Given the description of an element on the screen output the (x, y) to click on. 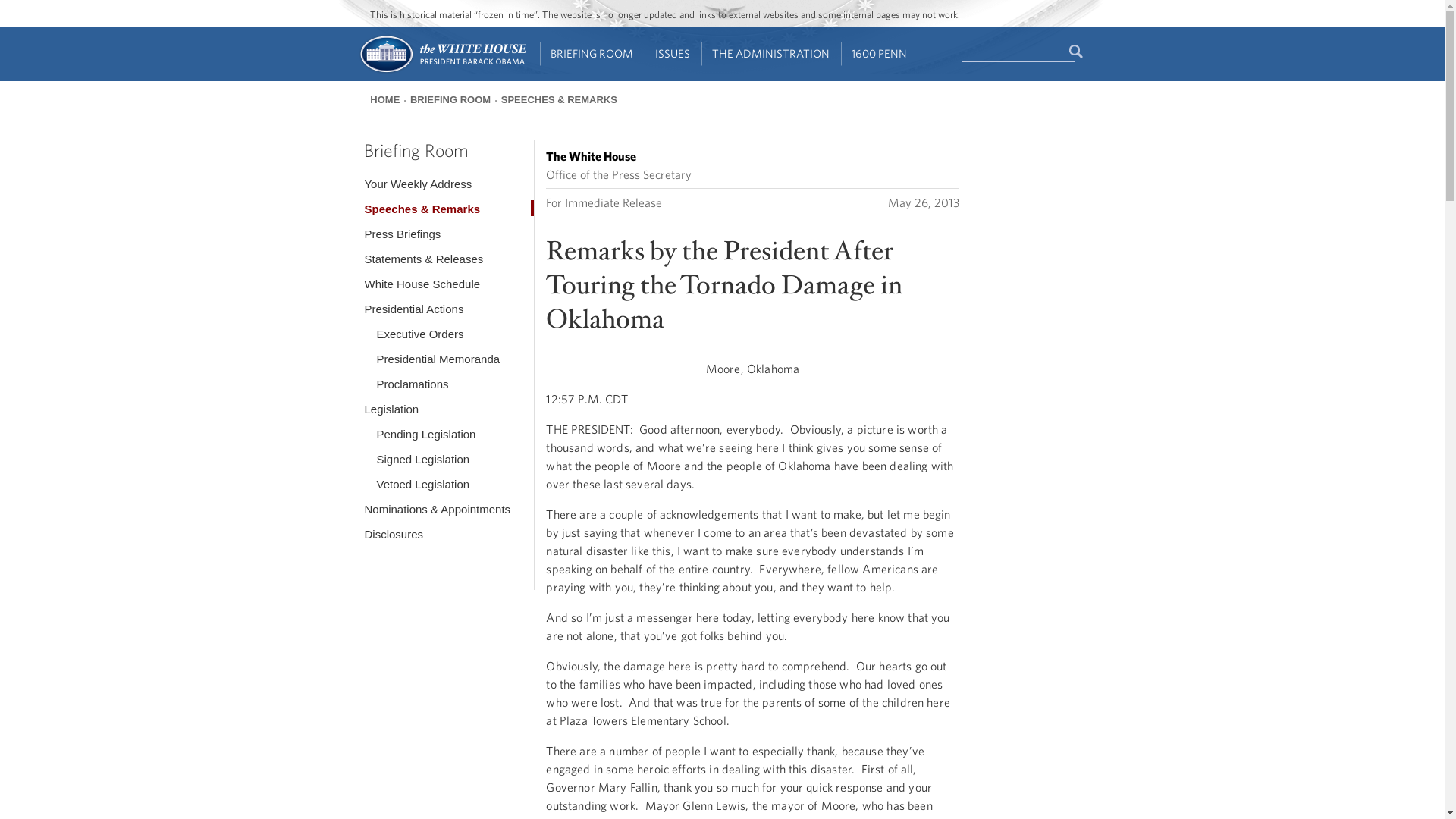
BRIEFING ROOM (592, 53)
Enter the terms you wish to search for. (1017, 52)
Home (441, 70)
ISSUES (673, 53)
Search (1076, 51)
